Given the description of an element on the screen output the (x, y) to click on. 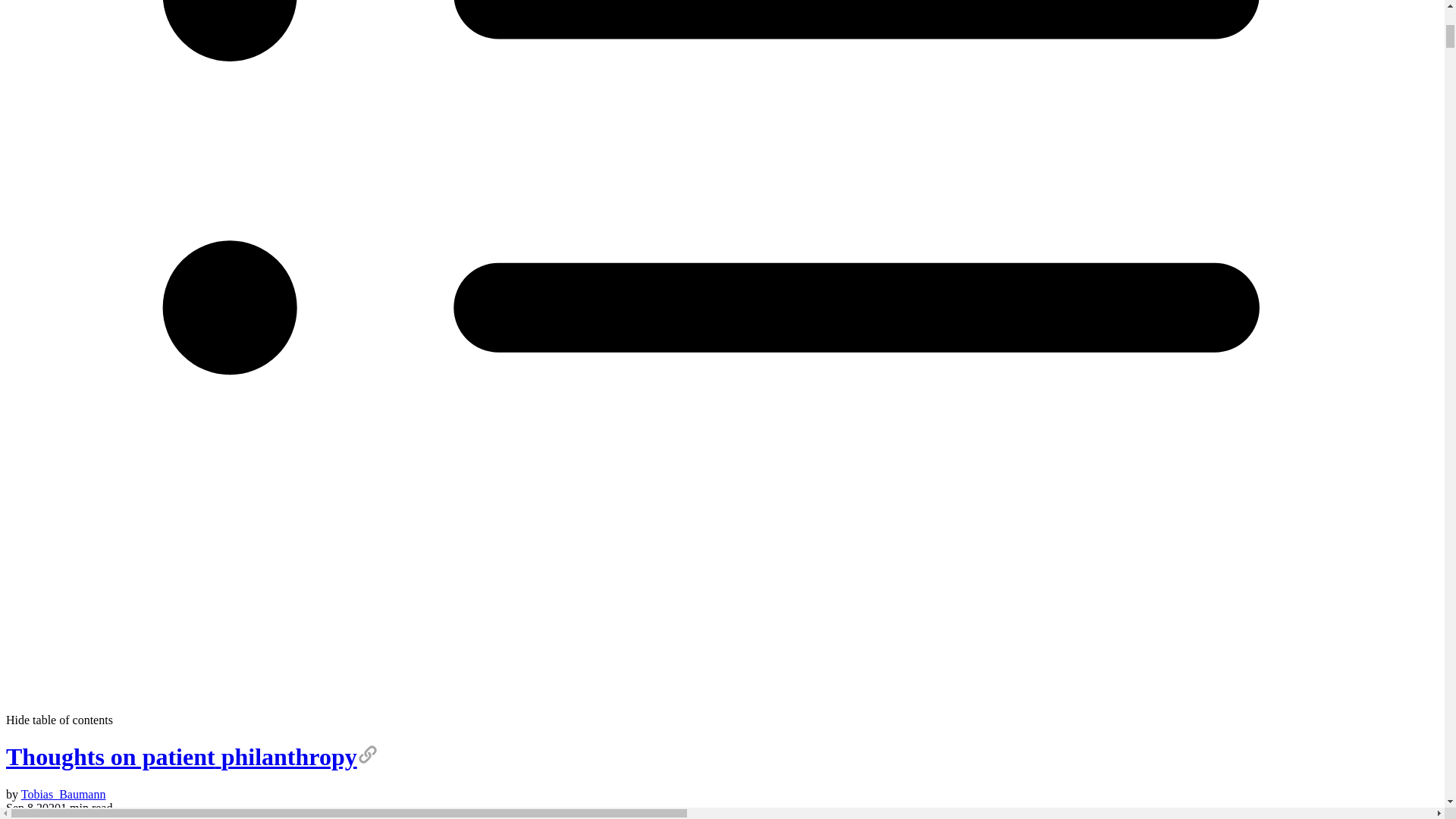
Thoughts on patient philanthropy (191, 756)
